Given the description of an element on the screen output the (x, y) to click on. 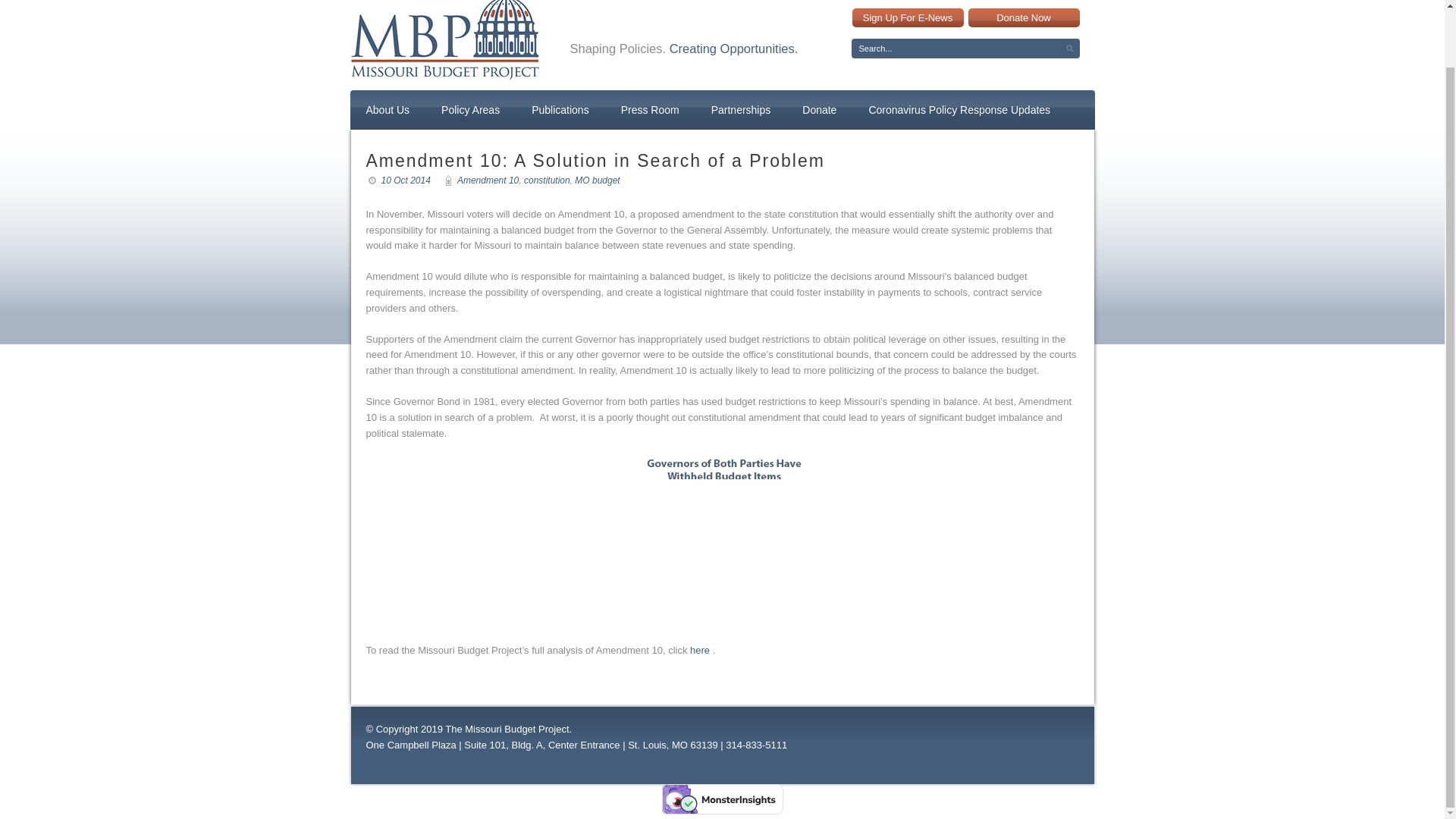
About Us (388, 109)
Search... (964, 48)
Donate (818, 109)
Press Room (649, 109)
Partnerships (740, 109)
Publications (559, 109)
Sign Up For E-News (907, 17)
Donate Now (1023, 17)
Policy Areas (469, 109)
Verified by MonsterInsights (722, 798)
